Given the description of an element on the screen output the (x, y) to click on. 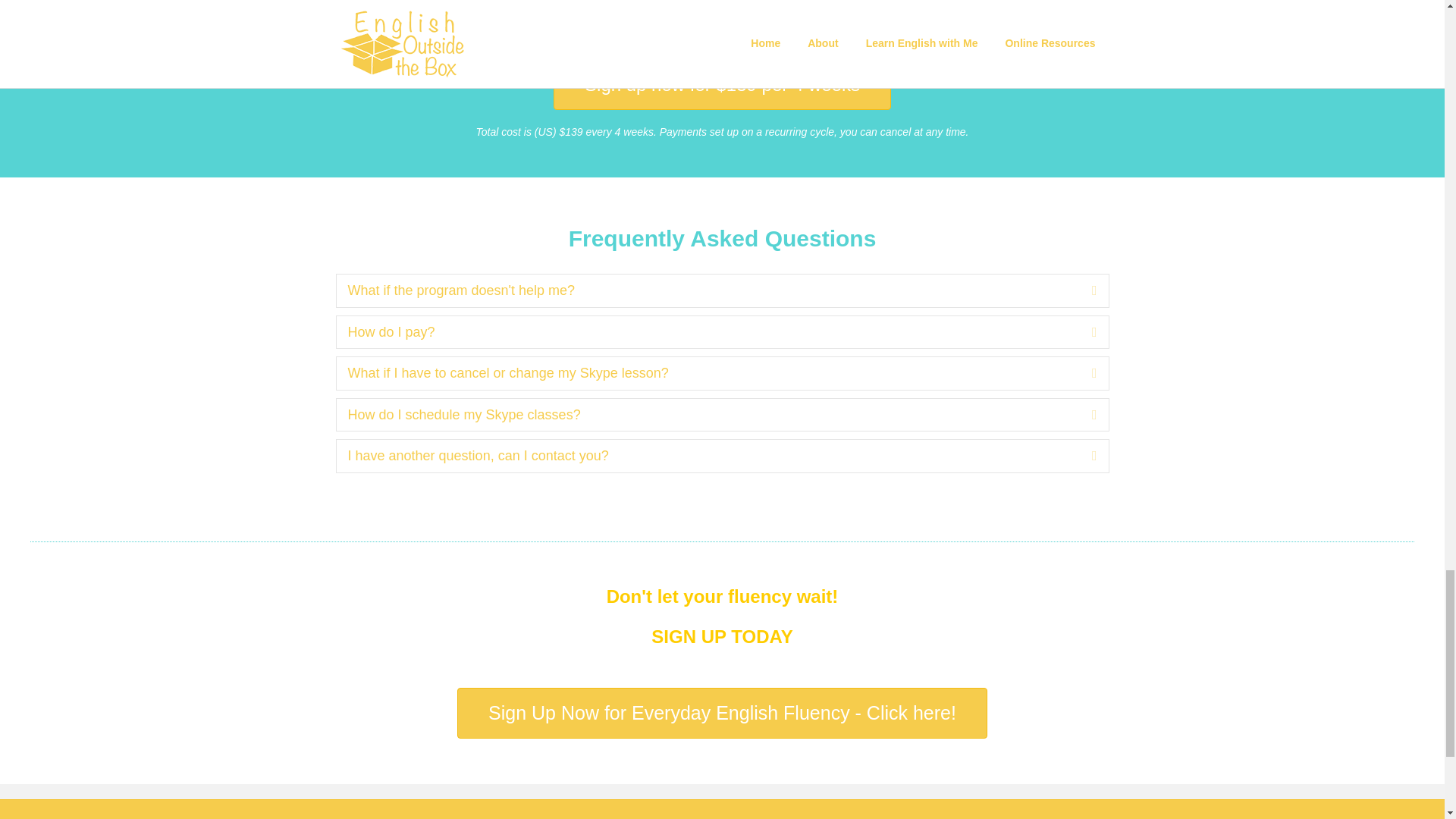
Expand (1082, 373)
How do I pay? (707, 332)
Expand (1082, 290)
What if the program doesn't help me? (707, 290)
What if I have to cancel or change my Skype lesson? (707, 373)
How do I schedule my Skype classes? (707, 415)
Expand (1082, 415)
I have another question, can I contact you? (707, 456)
Expand (1082, 456)
Sign Up Now for Everyday English Fluency - Click here! (722, 712)
Expand (1082, 332)
